Given the description of an element on the screen output the (x, y) to click on. 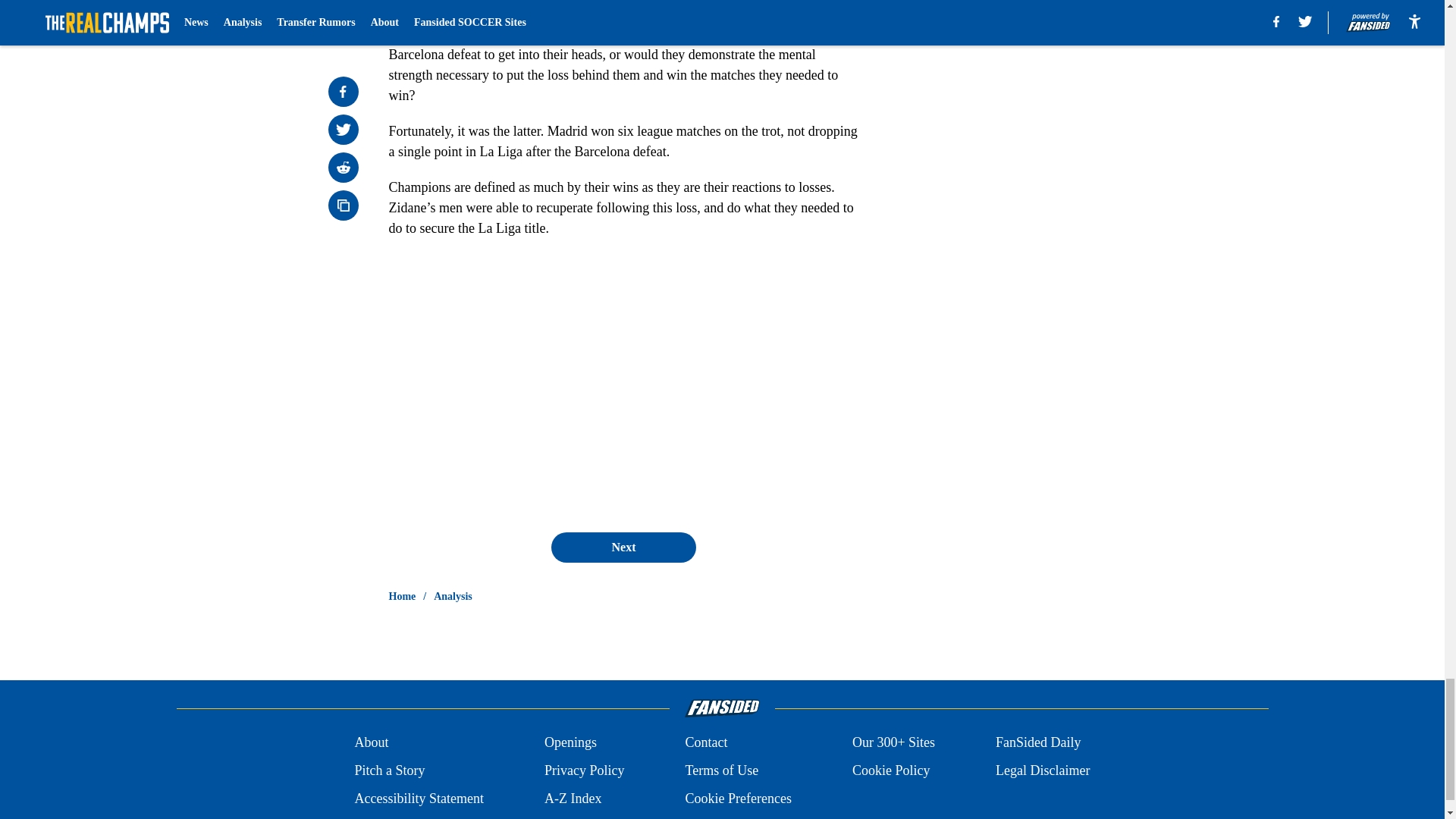
Home (401, 596)
Contact (705, 742)
Next (622, 547)
Openings (570, 742)
Analysis (452, 596)
About (370, 742)
